Given the description of an element on the screen output the (x, y) to click on. 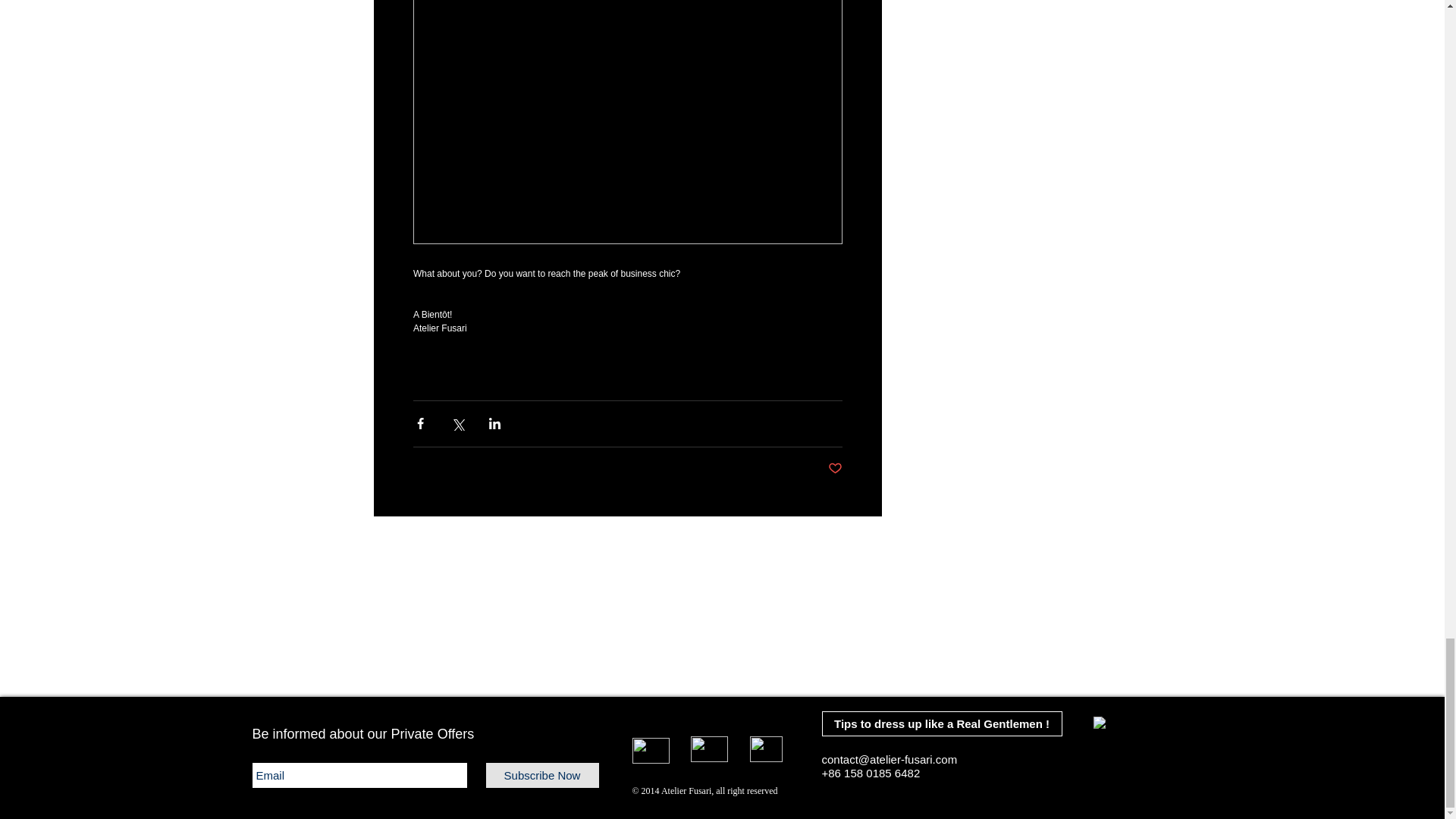
Tips to dress up like a Real Gentlemen ! (942, 723)
Post not marked as liked (835, 468)
Subscribe Now (541, 774)
